Given the description of an element on the screen output the (x, y) to click on. 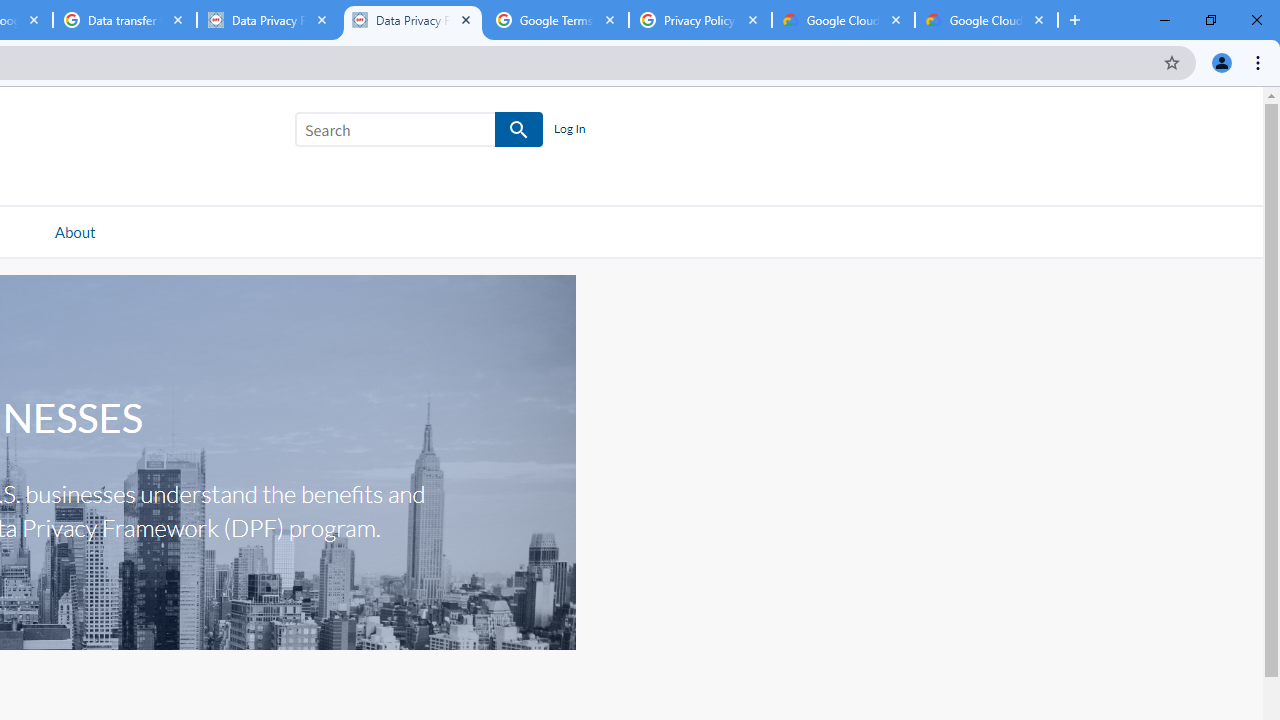
Data Privacy Framework (412, 20)
Log In (569, 129)
